Given the description of an element on the screen output the (x, y) to click on. 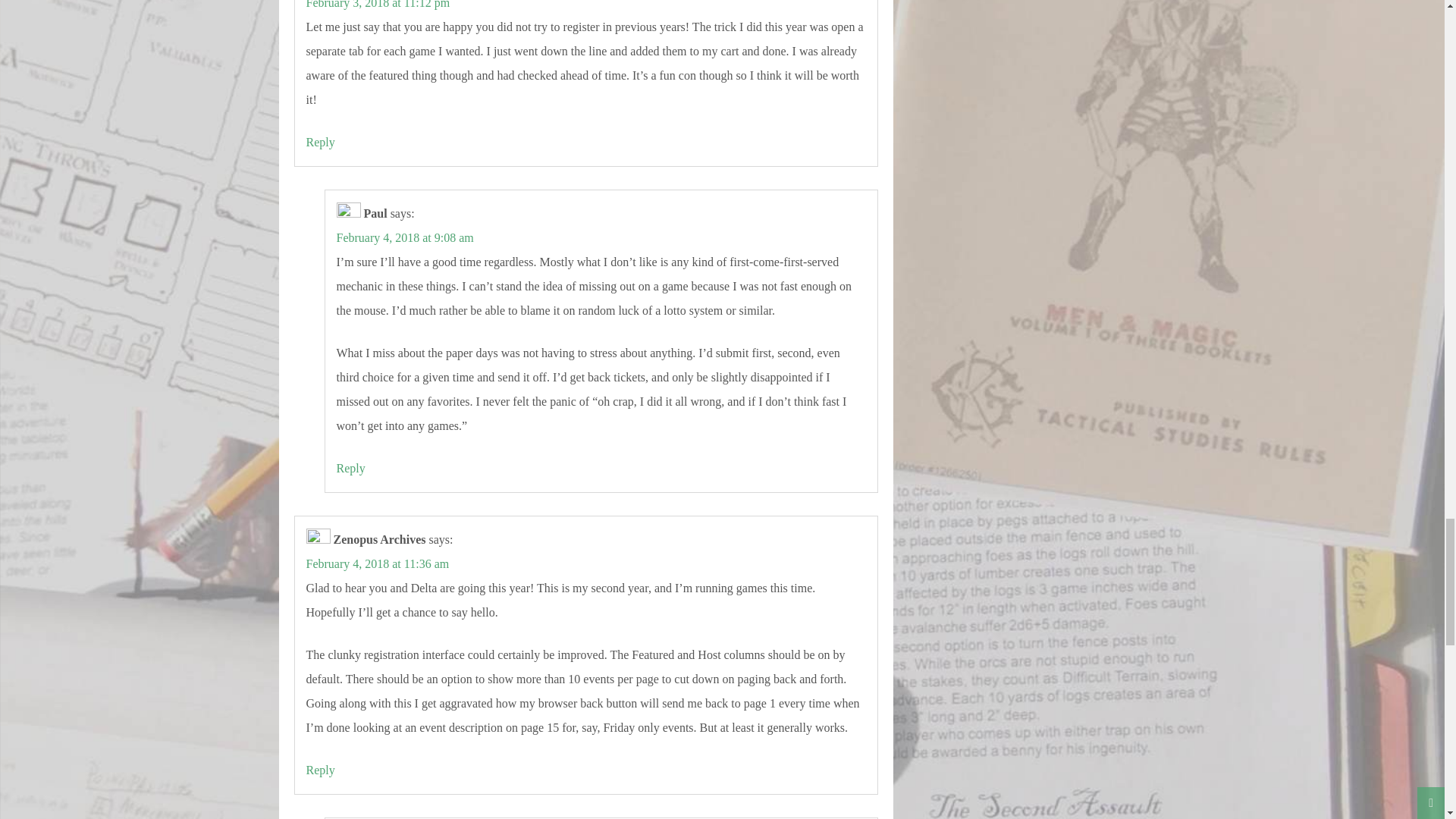
February 4, 2018 at 9:08 am (405, 237)
Reply (319, 141)
February 3, 2018 at 11:12 pm (377, 4)
